Given the description of an element on the screen output the (x, y) to click on. 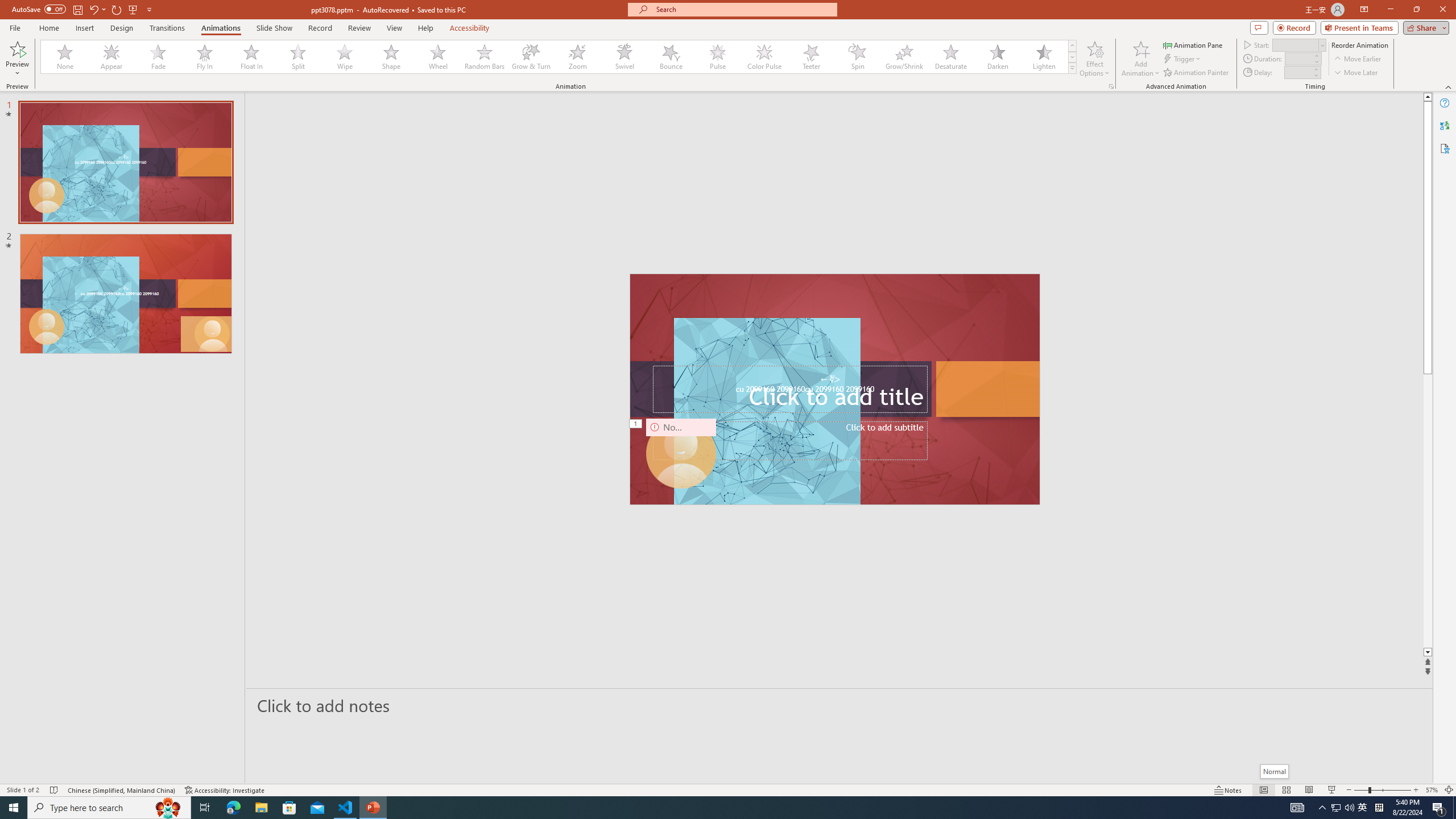
Grow/Shrink (903, 56)
Color Pulse (764, 56)
Lighten (1043, 56)
Split (298, 56)
Float In (251, 56)
Grow & Turn (531, 56)
Bounce (670, 56)
Animation Delay (1297, 72)
